Given the description of an element on the screen output the (x, y) to click on. 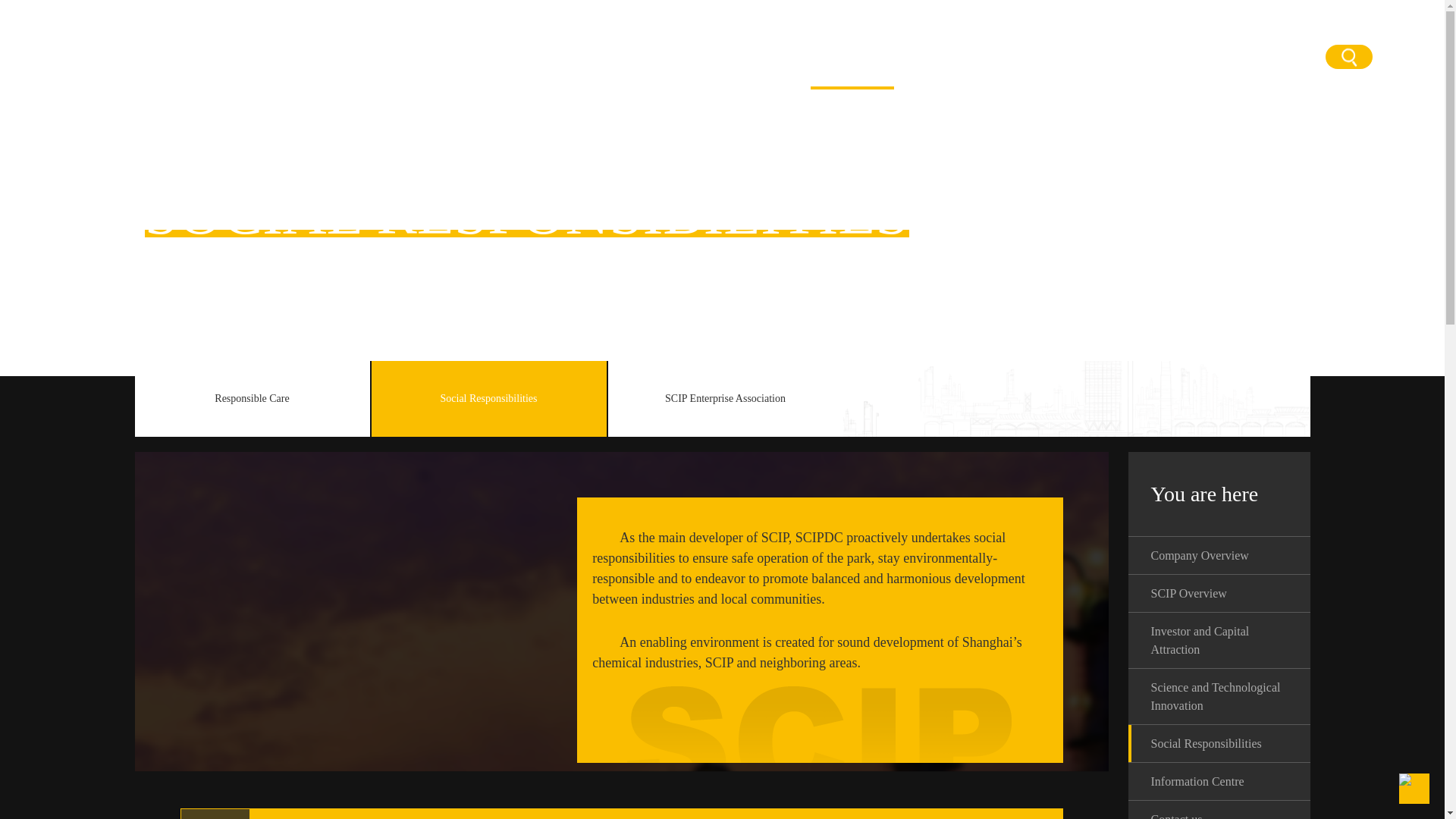
Company Overview (731, 63)
Home (601, 63)
Contact us (851, 63)
Information Centre (387, 56)
SCIP Overview (301, 56)
